Given the description of an element on the screen output the (x, y) to click on. 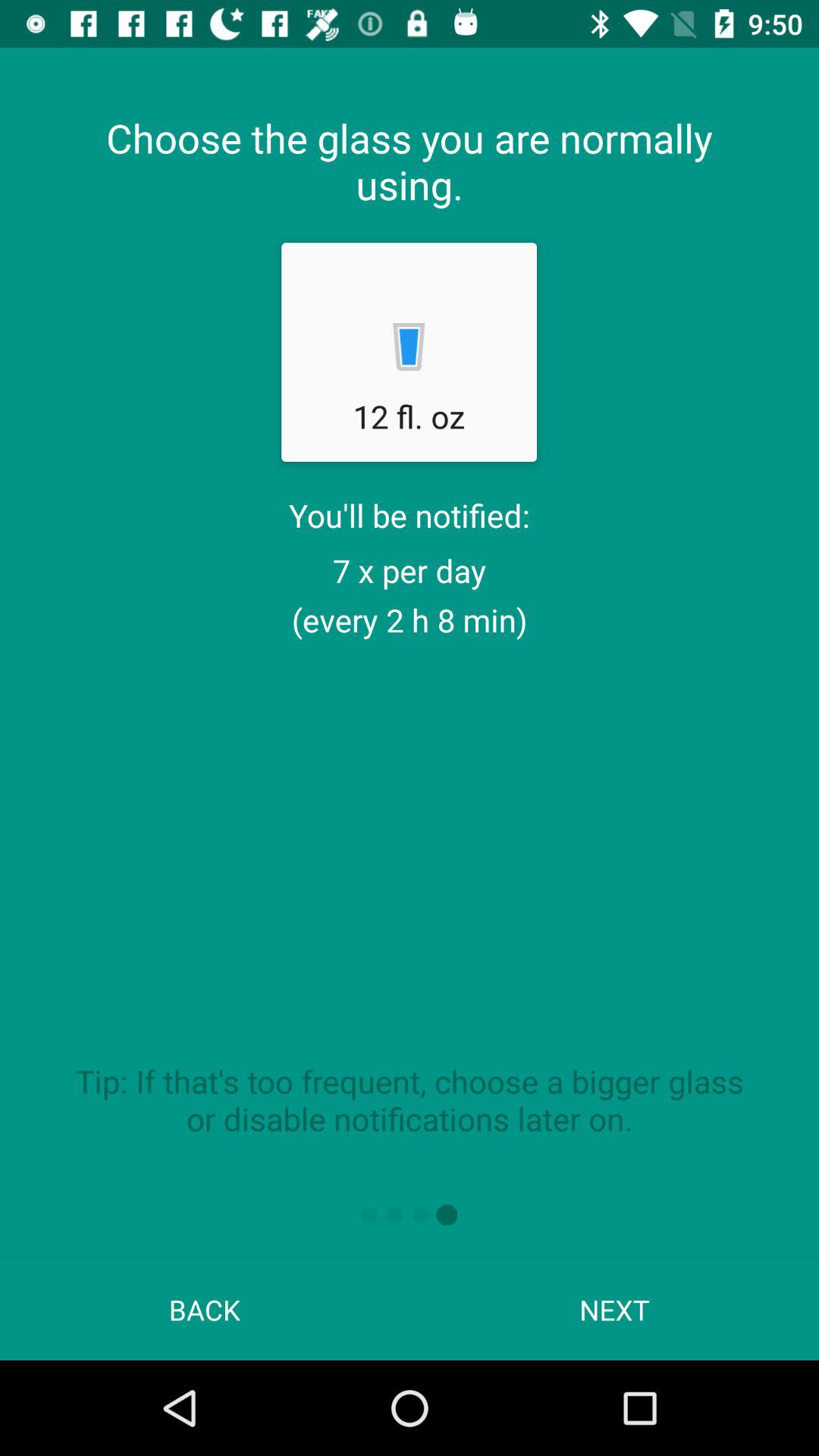
open app next to back app (614, 1309)
